Given the description of an element on the screen output the (x, y) to click on. 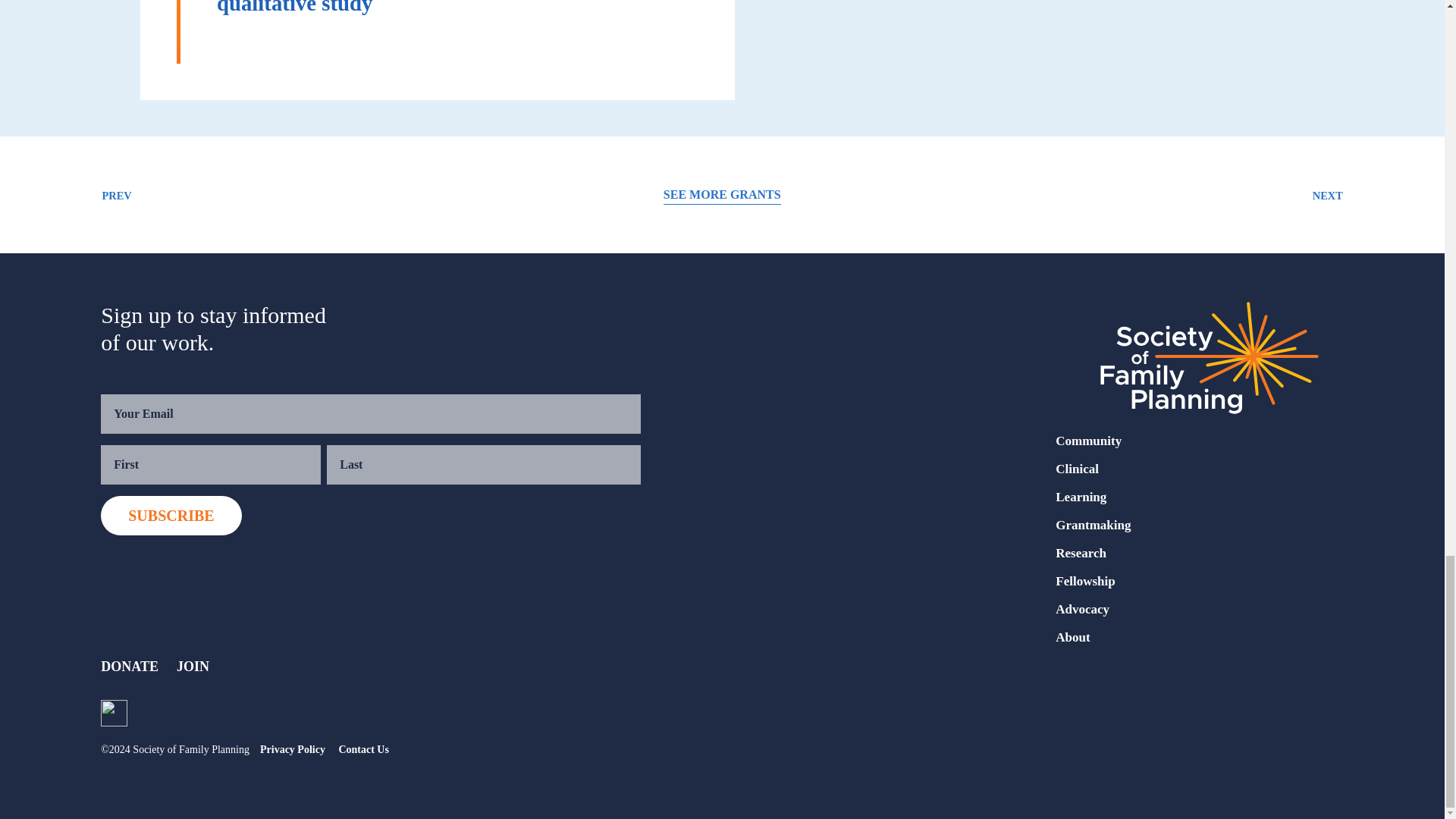
Subscribe (170, 515)
